Given the description of an element on the screen output the (x, y) to click on. 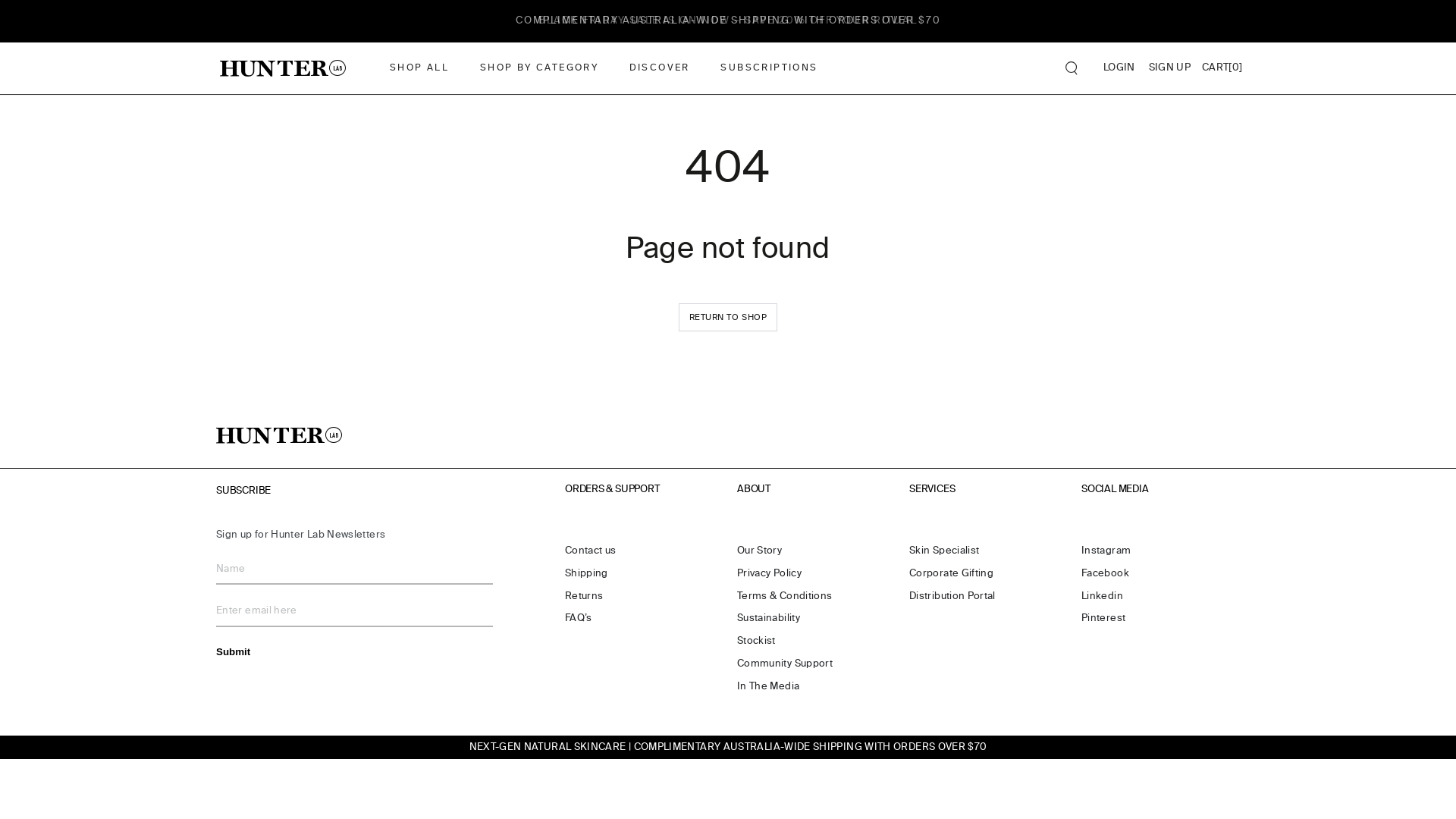
Privacy Policy Element type: text (769, 573)
Submit Element type: text (233, 650)
Returns Element type: text (583, 596)
Sustainability Element type: text (768, 618)
RETURN TO SHOP Element type: text (727, 317)
Our Story Element type: text (759, 550)
SUBSCRIPTIONS Element type: text (769, 67)
DISCOVER Element type: text (658, 67)
Stockist Element type: text (756, 641)
SHOP BY CATEGORY Element type: text (538, 67)
SHOP ALL Element type: text (418, 67)
In The Media Element type: text (768, 686)
Pinterest Element type: text (1103, 618)
Instagram Element type: text (1105, 550)
Corporate Gifting Element type: text (951, 573)
Distribution Portal Element type: text (952, 596)
Contact us Element type: text (590, 550)
Community Support Element type: text (784, 663)
SIGN UP Element type: text (1169, 68)
LOGIN Element type: text (1119, 68)
Shipping Element type: text (586, 573)
Facebook Element type: text (1105, 573)
Linkedin Element type: text (1102, 596)
Terms & Conditions Element type: text (784, 596)
Skin Specialist Element type: text (944, 550)
